Given the description of an element on the screen output the (x, y) to click on. 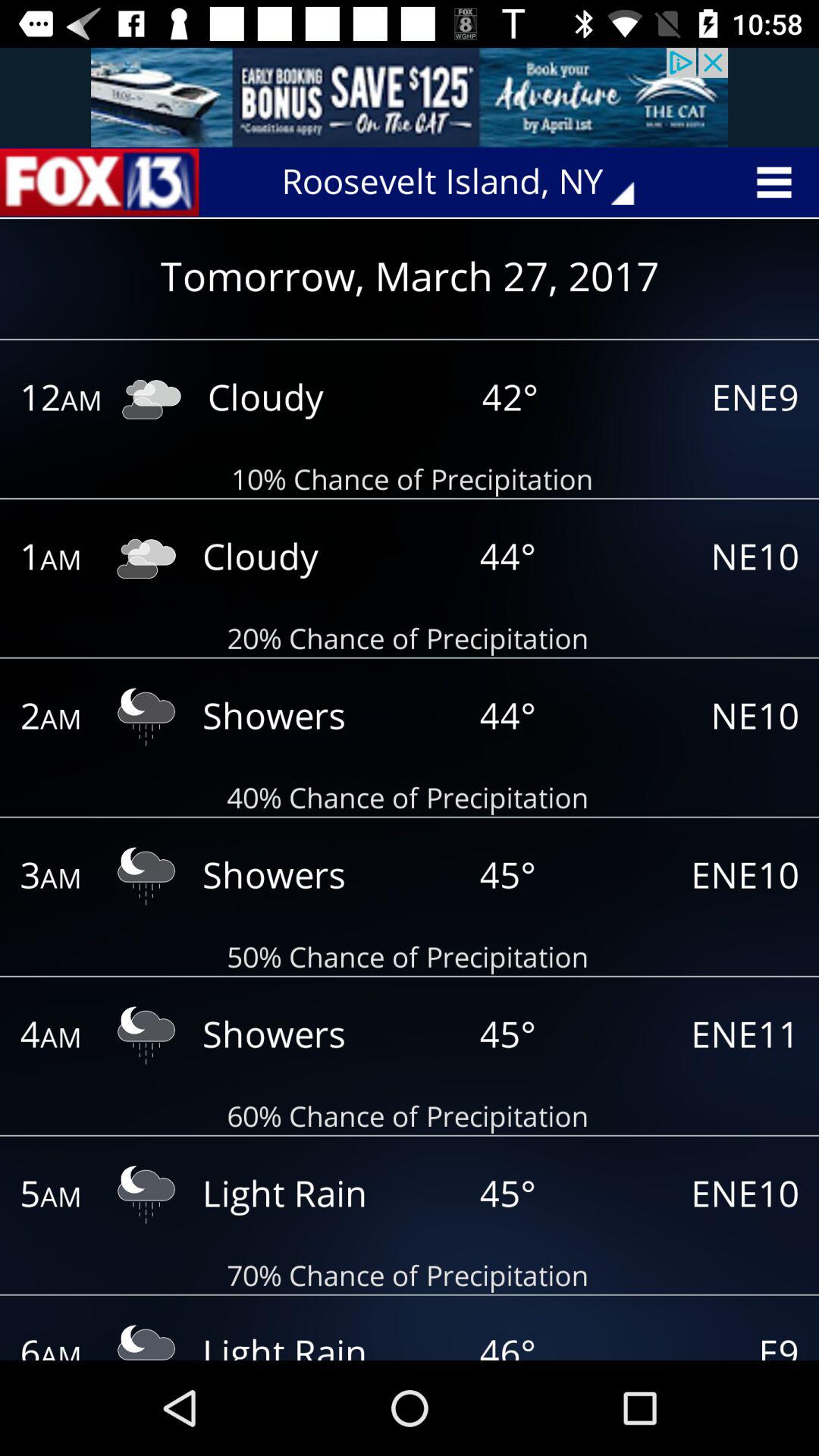
go to news site (99, 182)
